Given the description of an element on the screen output the (x, y) to click on. 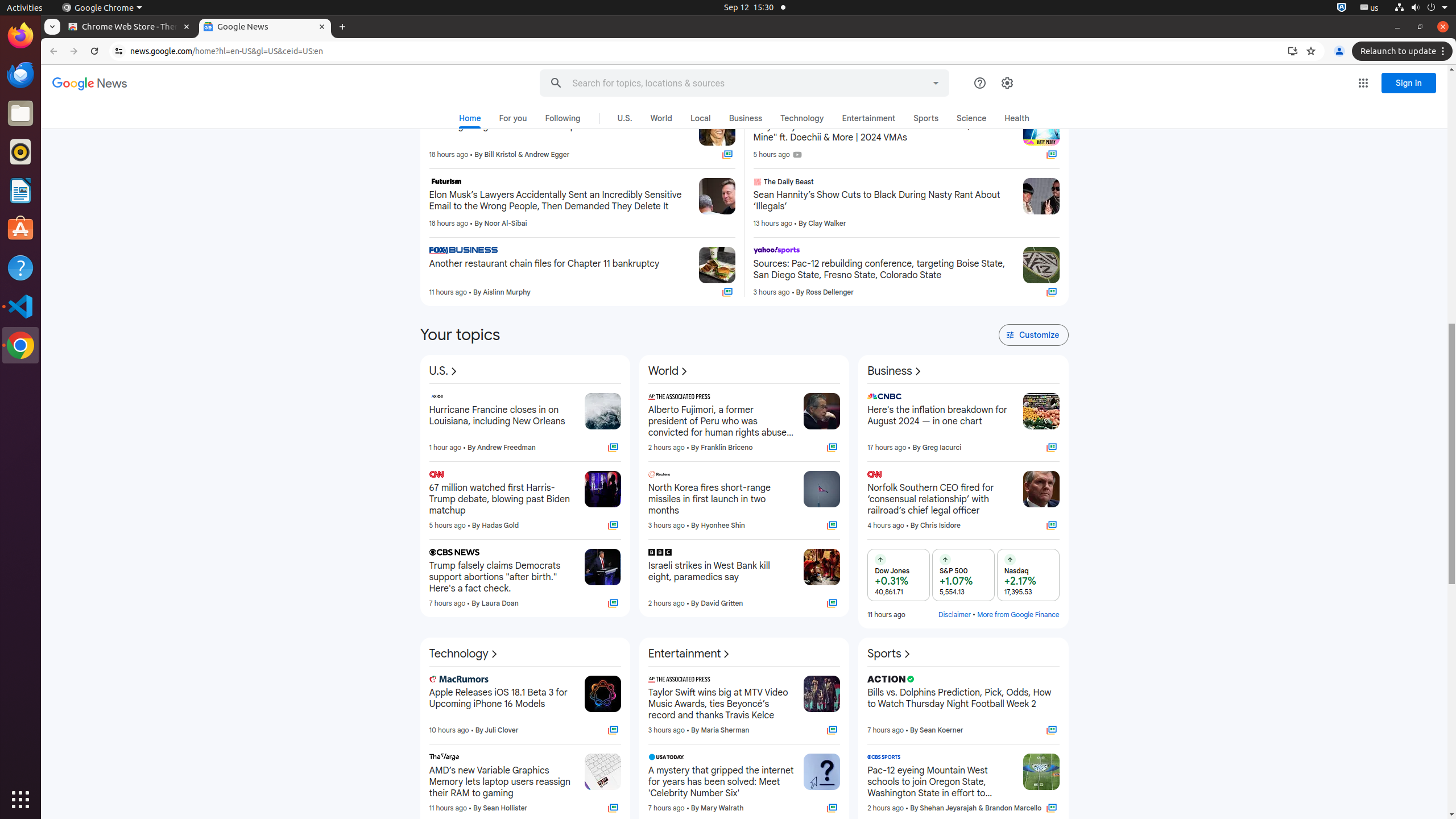
:1.21/StatusNotifierItem Element type: menu (1369, 7)
Taylor Swift wins big at MTV Video Music Awards, ties Beyoncé’s record and thanks Travis Kelce Element type: link (721, 704)
More - Hurricane Francine closes in on Louisiana, including New Orleans Element type: push-button (571, 398)
Sources: Pac-12 rebuilding conference, targeting Boise State, San Diego State, Fresno State, Colorado State Element type: link (883, 269)
More - Apple Releases iOS 18.1 Beta 3 for Upcoming iPhone 16 Models Element type: push-button (571, 680)
